Given the description of an element on the screen output the (x, y) to click on. 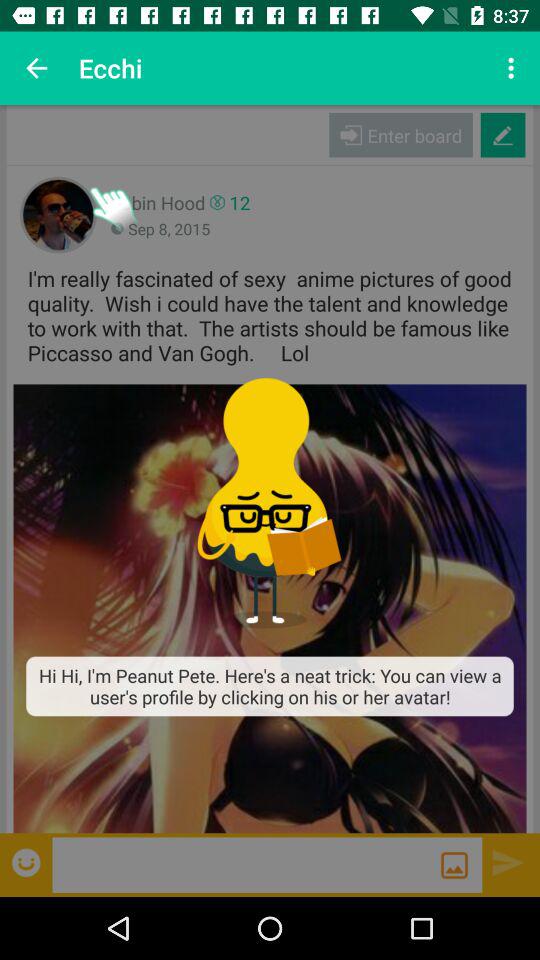
type the message bar (246, 864)
